Given the description of an element on the screen output the (x, y) to click on. 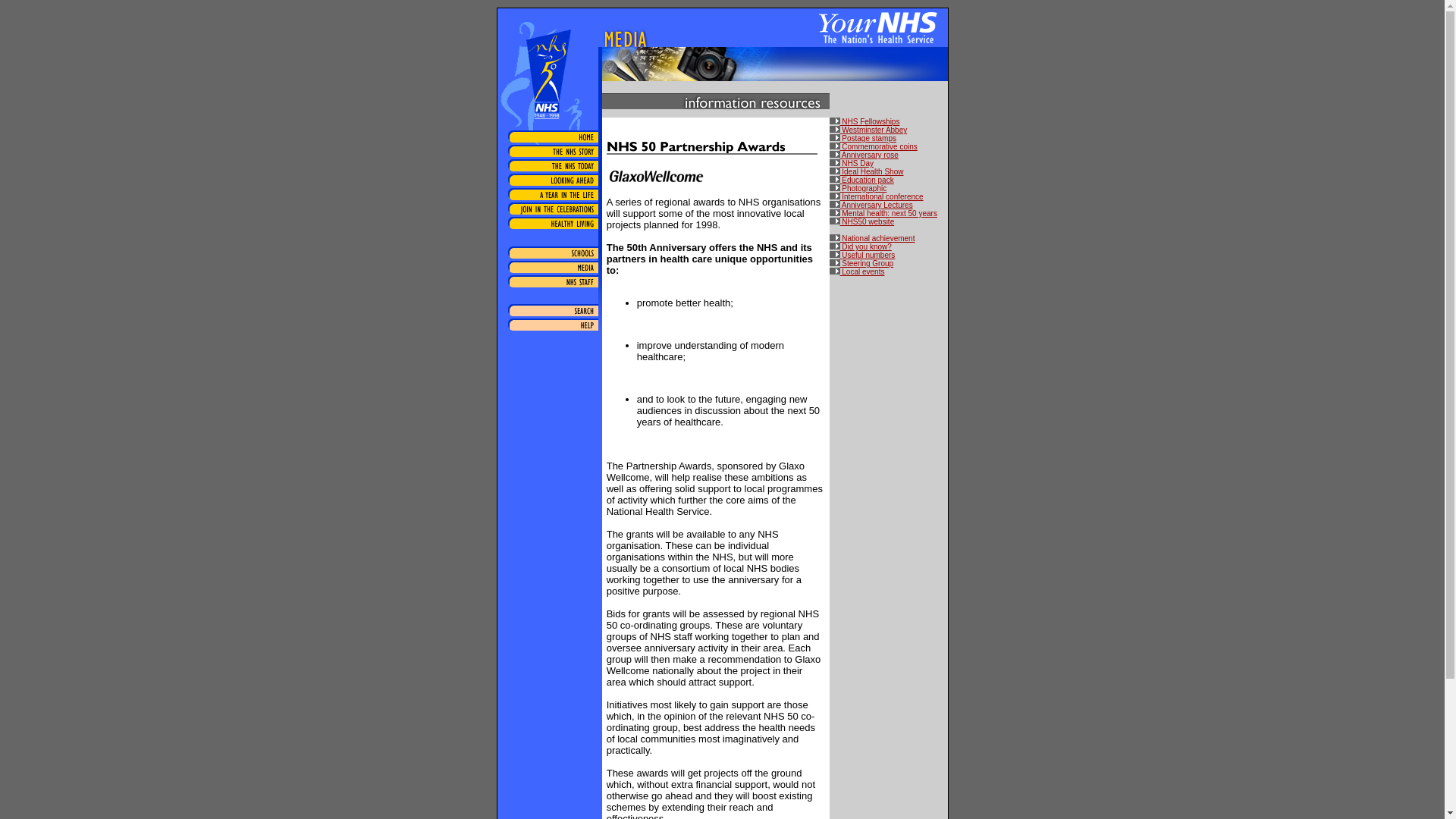
Did you know? (860, 246)
Mental health: next 50 years (883, 213)
Postage stamps (862, 138)
Anniversary rose (863, 154)
NHS Fellowships (864, 121)
Photographic (857, 188)
Ideal Health Show (866, 171)
National achievement (872, 238)
Steering Group (861, 263)
Westminster Abbey (868, 130)
Local events (857, 271)
International conference (876, 196)
Commemorative coins (873, 146)
Education pack (861, 180)
NHS50 website (862, 221)
